Given the description of an element on the screen output the (x, y) to click on. 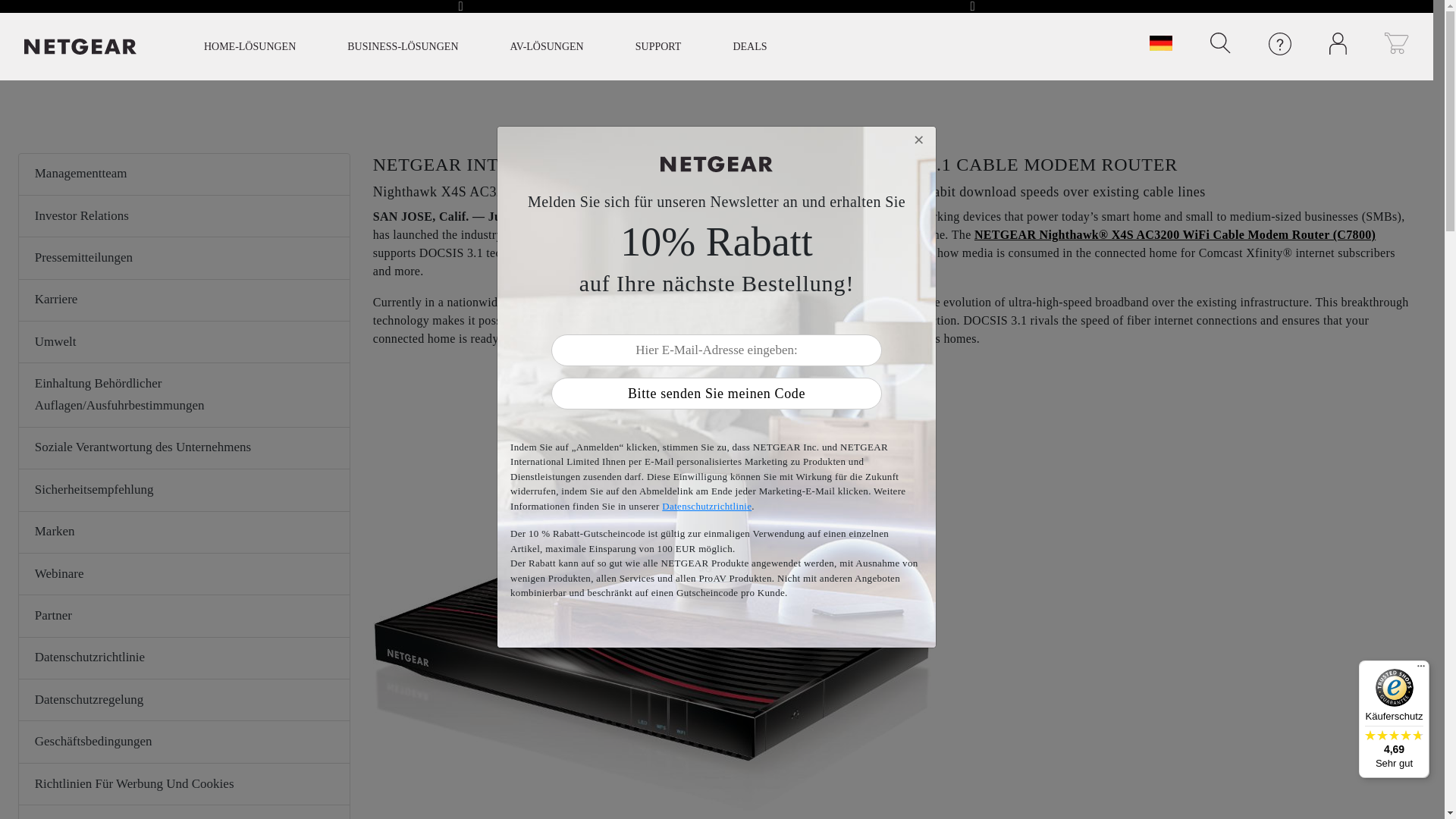
Next (971, 9)
Previous (460, 9)
Bitte senden Sie meinen Code (715, 393)
